Given the description of an element on the screen output the (x, y) to click on. 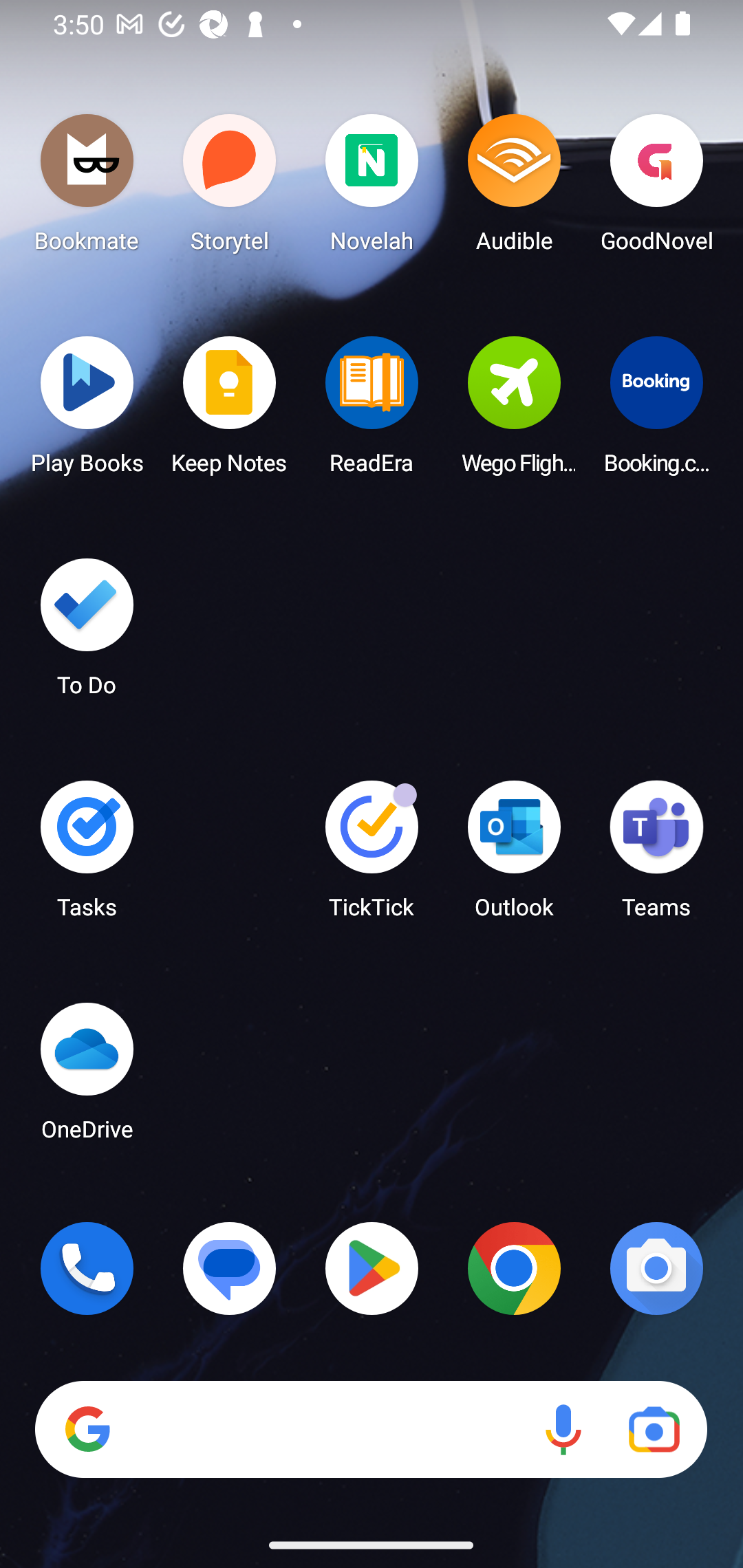
Bookmate (86, 188)
Storytel (229, 188)
Novelah (371, 188)
Audible (513, 188)
GoodNovel (656, 188)
Play Books (86, 410)
Keep Notes (229, 410)
ReadEra (371, 410)
Wego Flights & Hotels (513, 410)
Booking.com (656, 410)
To Do (86, 633)
Tasks (86, 854)
TickTick TickTick has 3 notifications (371, 854)
Outlook (513, 854)
Teams (656, 854)
OneDrive (86, 1076)
Phone (86, 1268)
Messages (229, 1268)
Play Store (371, 1268)
Chrome (513, 1268)
Camera (656, 1268)
Search Voice search Google Lens (370, 1429)
Voice search (562, 1429)
Google Lens (653, 1429)
